Given the description of an element on the screen output the (x, y) to click on. 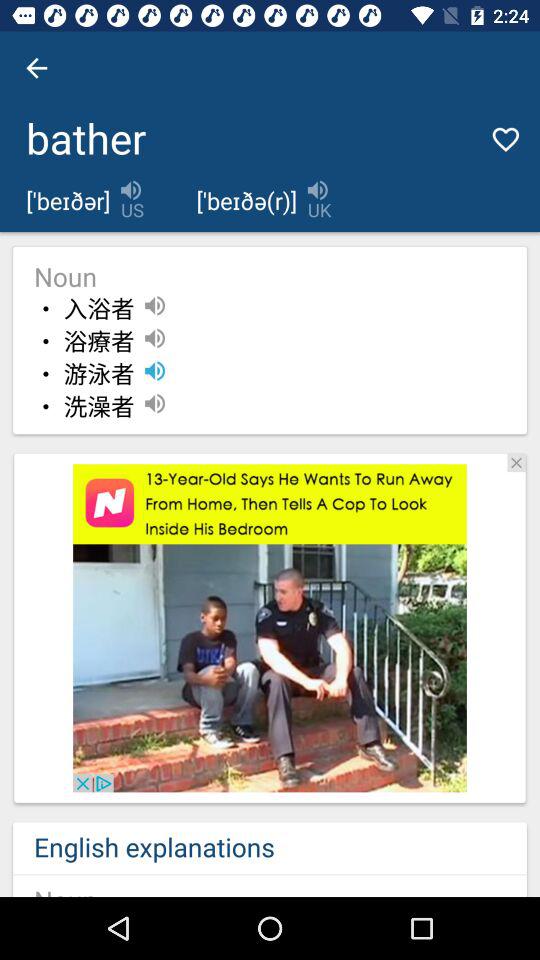
close button (516, 462)
